Given the description of an element on the screen output the (x, y) to click on. 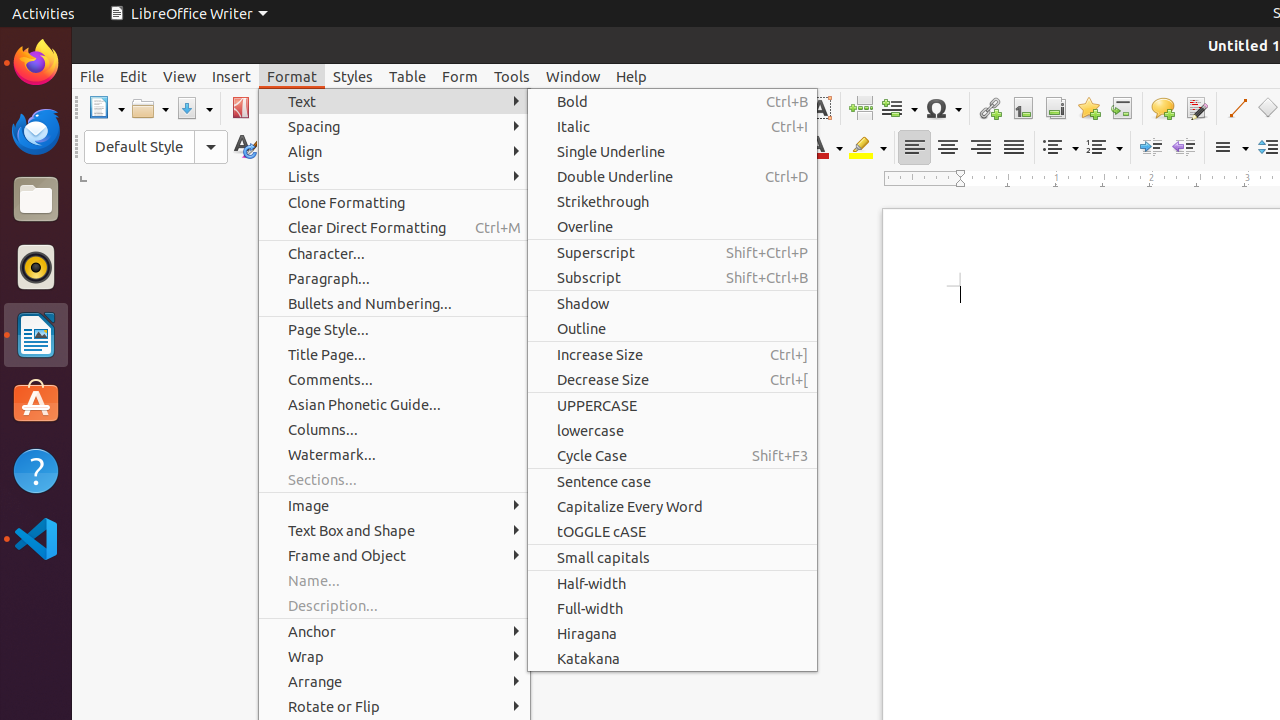
Rhythmbox Element type: push-button (36, 267)
Title Page... Element type: menu-item (394, 354)
Table Element type: menu (407, 76)
Cross-reference Element type: push-button (1121, 108)
Align Element type: menu (394, 151)
